Given the description of an element on the screen output the (x, y) to click on. 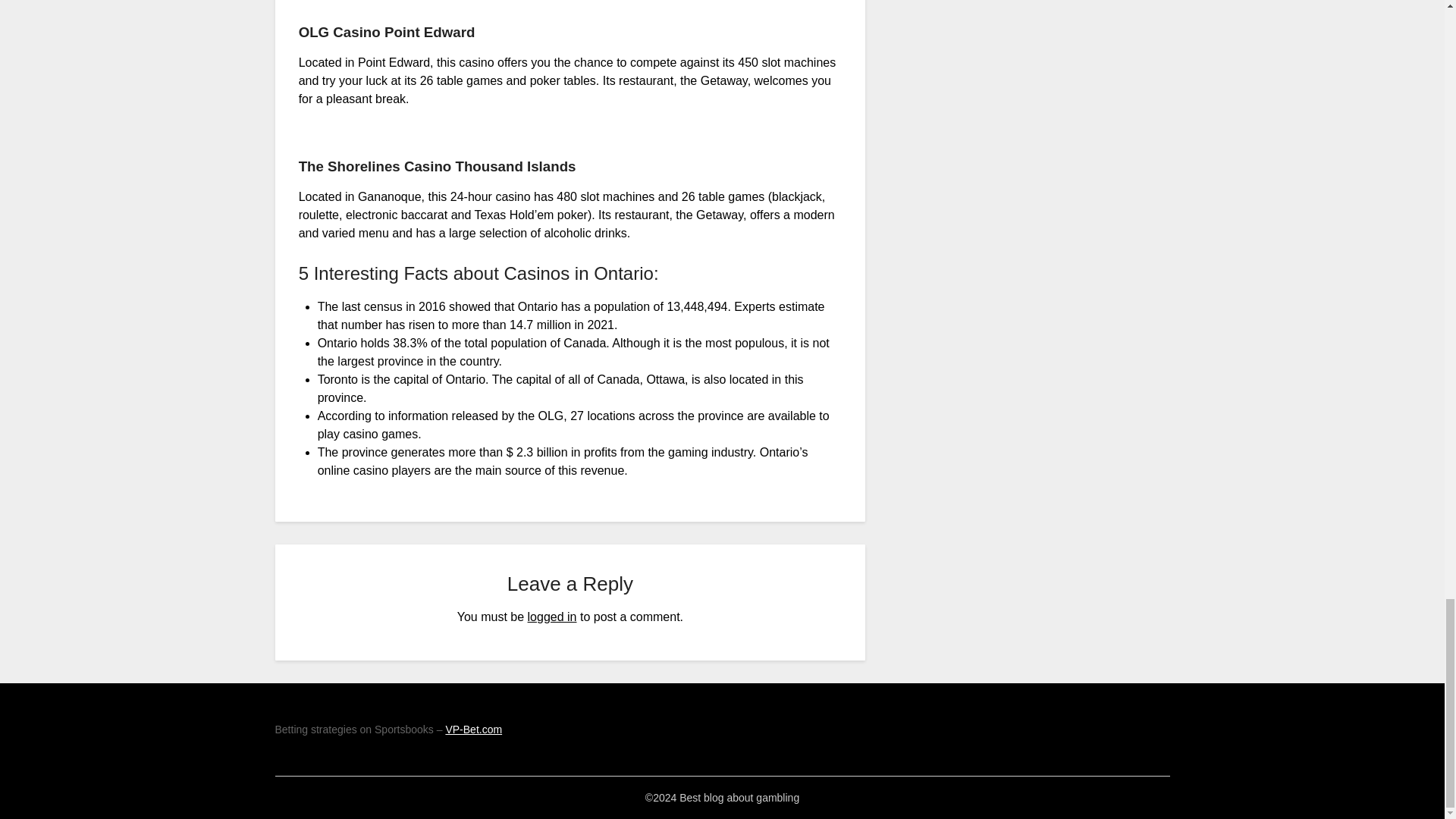
logged in (551, 616)
VP-Bet.com (473, 729)
